Given the description of an element on the screen output the (x, y) to click on. 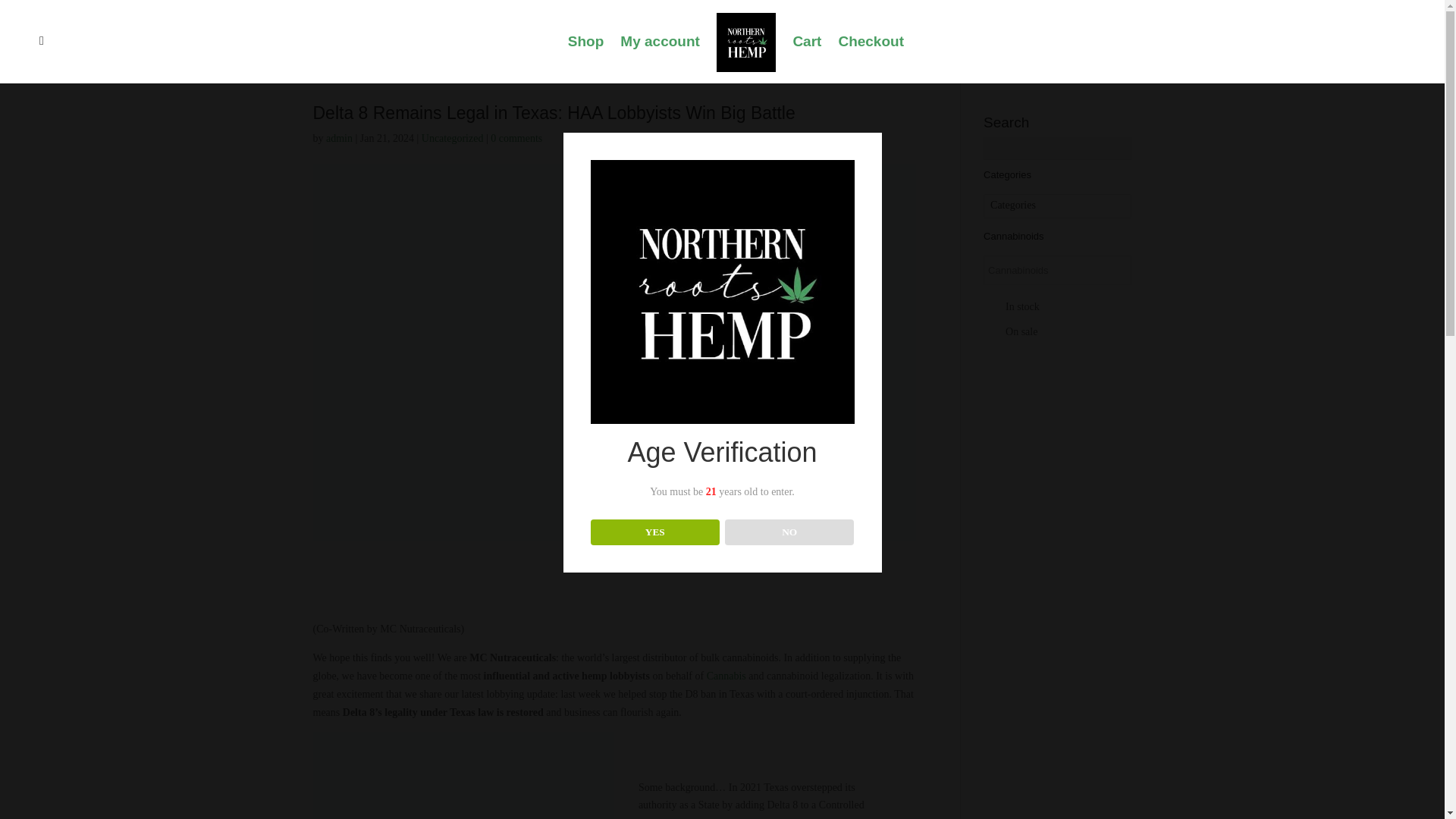
YES (655, 532)
Cannabinoids (1027, 270)
0 comments (515, 138)
Posts by admin (339, 138)
NO (789, 532)
Categories (1057, 206)
admin (339, 138)
Checkout (871, 59)
Cannabis (725, 675)
